Given the description of an element on the screen output the (x, y) to click on. 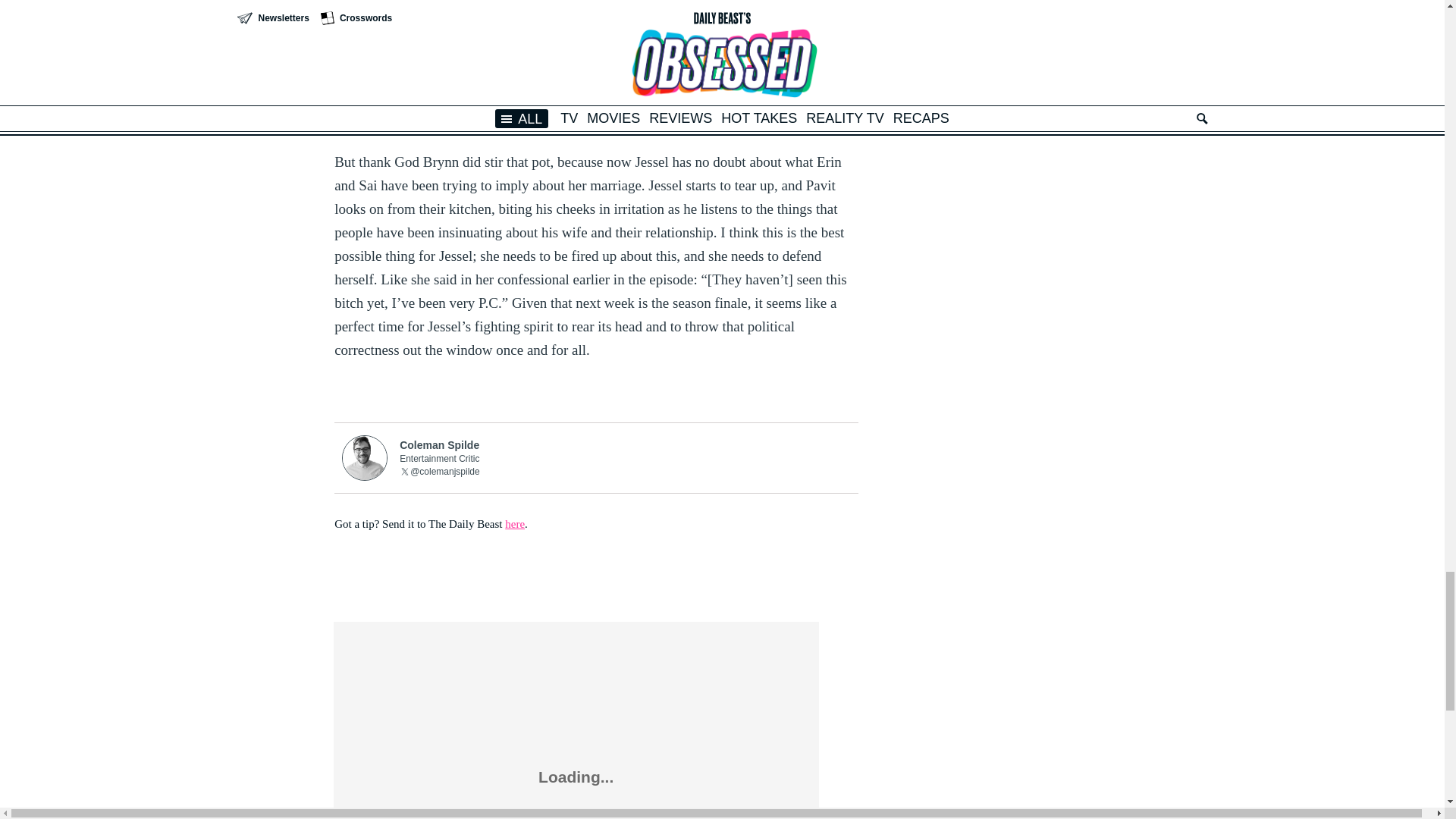
Entertainment Critic (624, 458)
Coleman Spilde (624, 444)
